Given the description of an element on the screen output the (x, y) to click on. 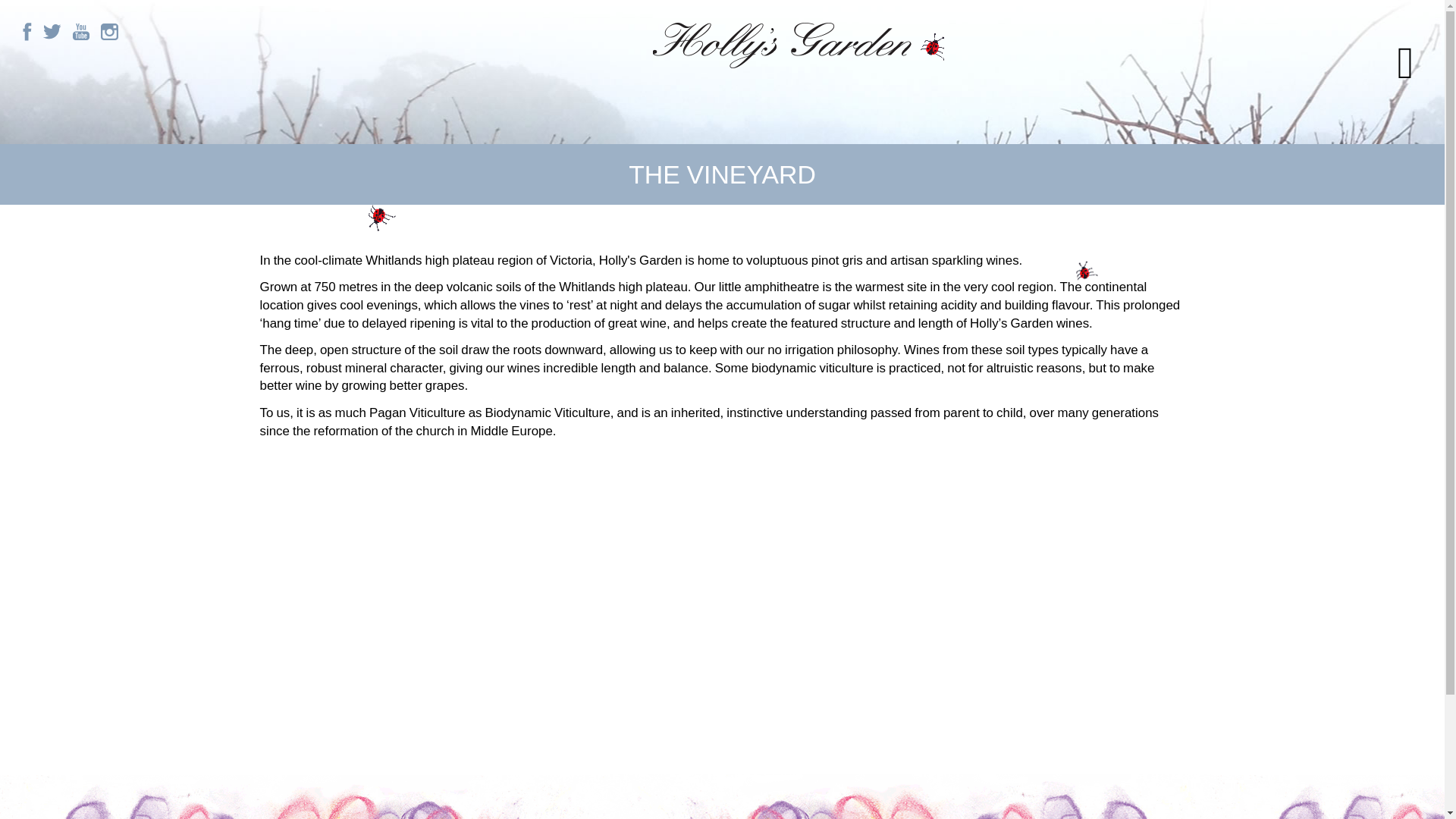
Back to top Element type: text (259, 242)
Facebook Element type: hover (26, 31)
Skip to Content Element type: text (0, 0)
Twitter Element type: hover (52, 31)
Vimeo Element type: hover (109, 31)
Youtube Element type: hover (80, 31)
